Given the description of an element on the screen output the (x, y) to click on. 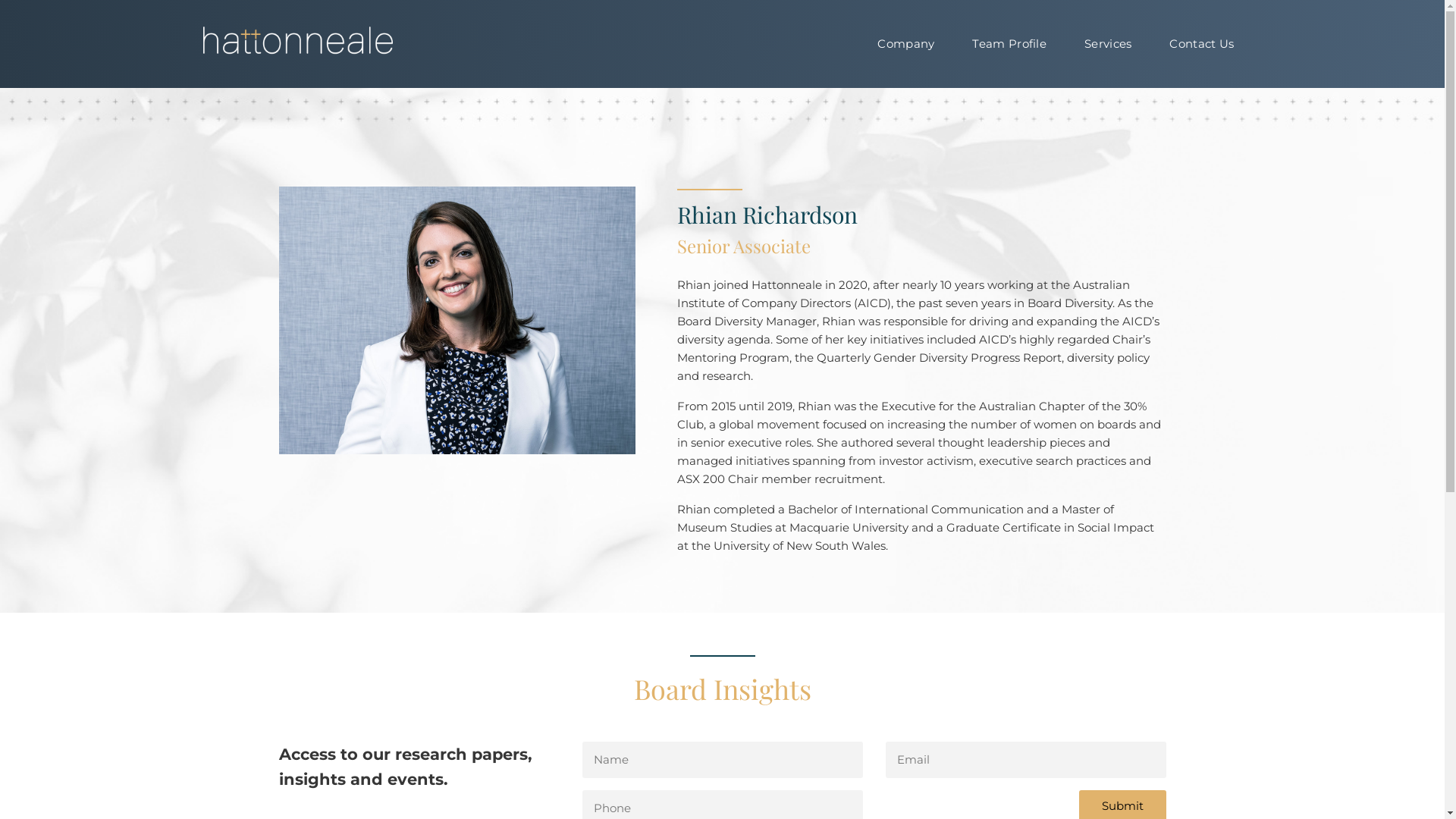
Services Element type: text (1107, 43)
Company Element type: text (905, 43)
Team Profile Element type: text (1009, 43)
Contact Us Element type: text (1201, 43)
